Given the description of an element on the screen output the (x, y) to click on. 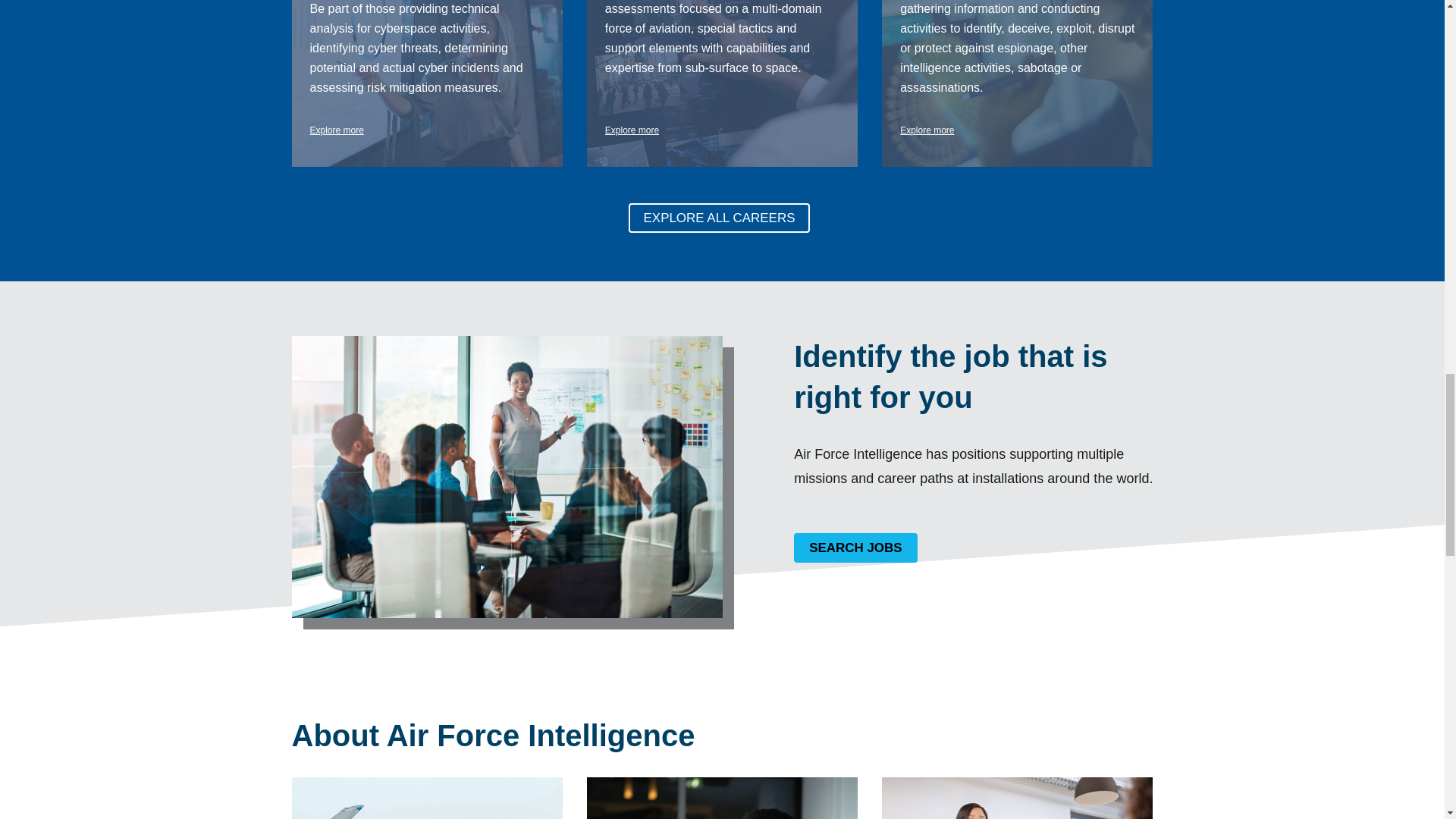
Explore more (335, 130)
SEARCH JOBS (855, 547)
Explore more (632, 130)
Explore more (926, 130)
EXPLORE ALL CAREERS (719, 217)
